Given the description of an element on the screen output the (x, y) to click on. 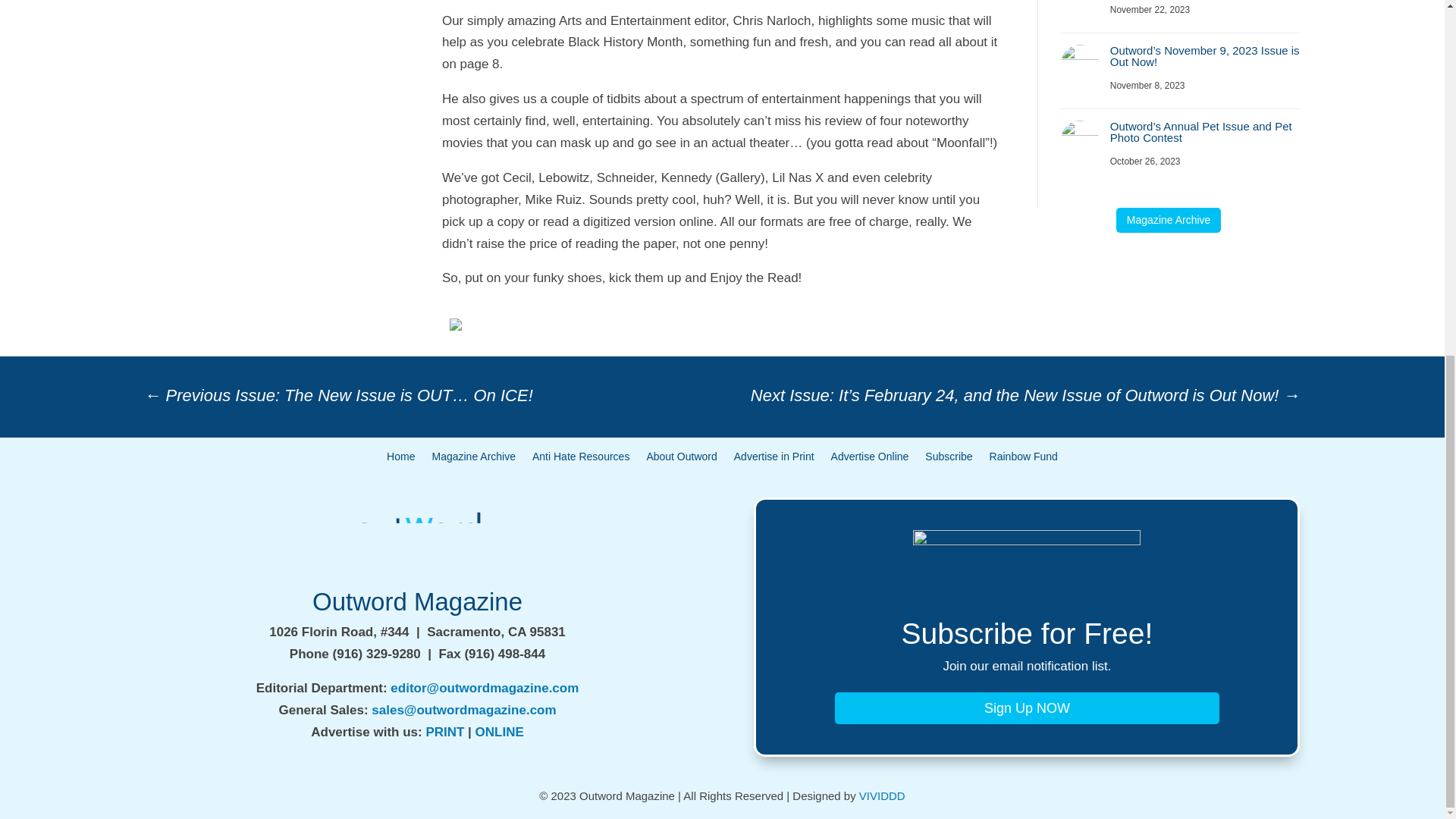
Magazine Archive (472, 459)
Outword-Logo-970 (417, 538)
Magazine Archive (1168, 219)
Home (400, 459)
Anti Hate Resources (580, 459)
About Outword (681, 459)
